Given the description of an element on the screen output the (x, y) to click on. 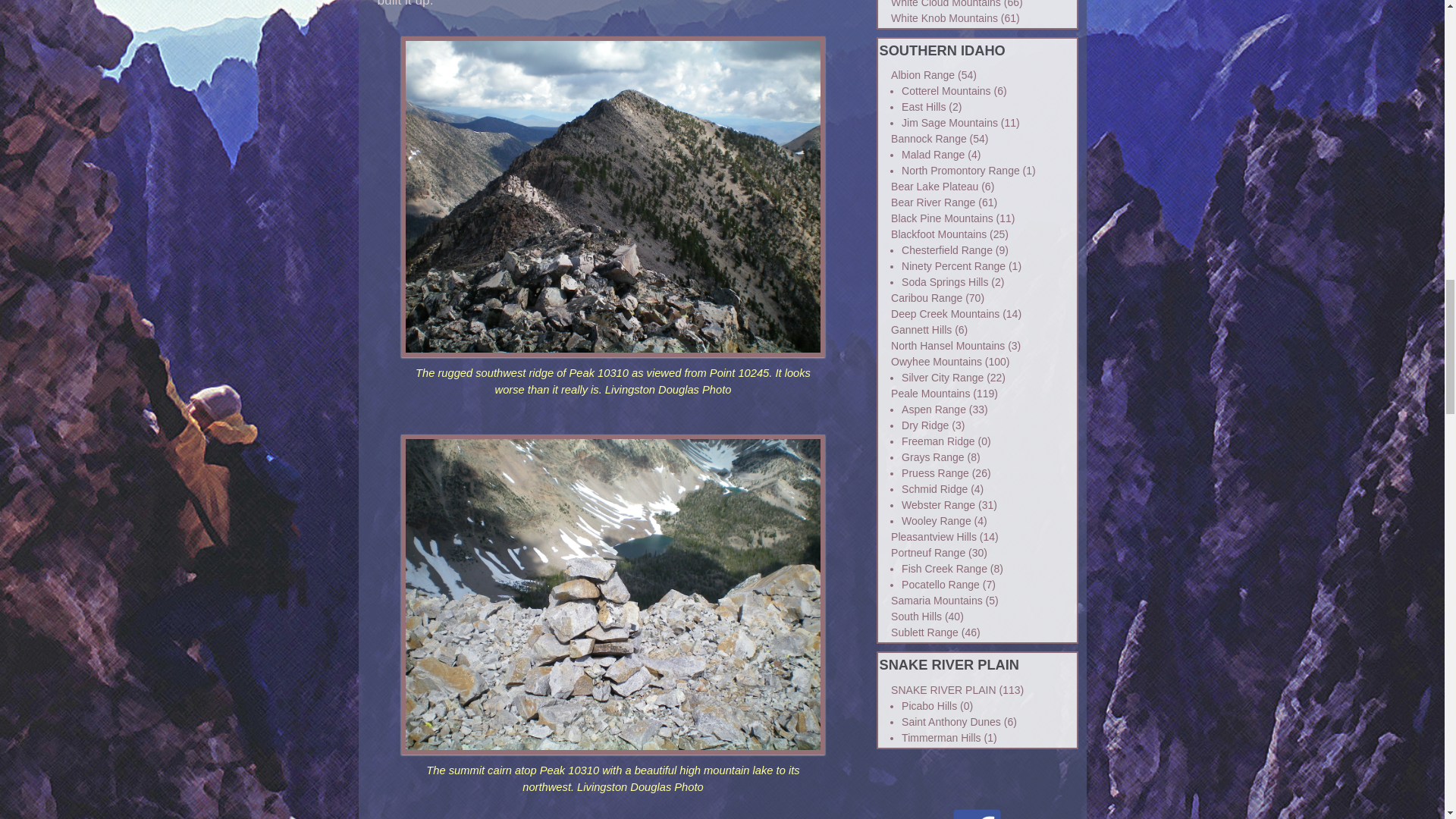
Follow us ... (976, 814)
